Given the description of an element on the screen output the (x, y) to click on. 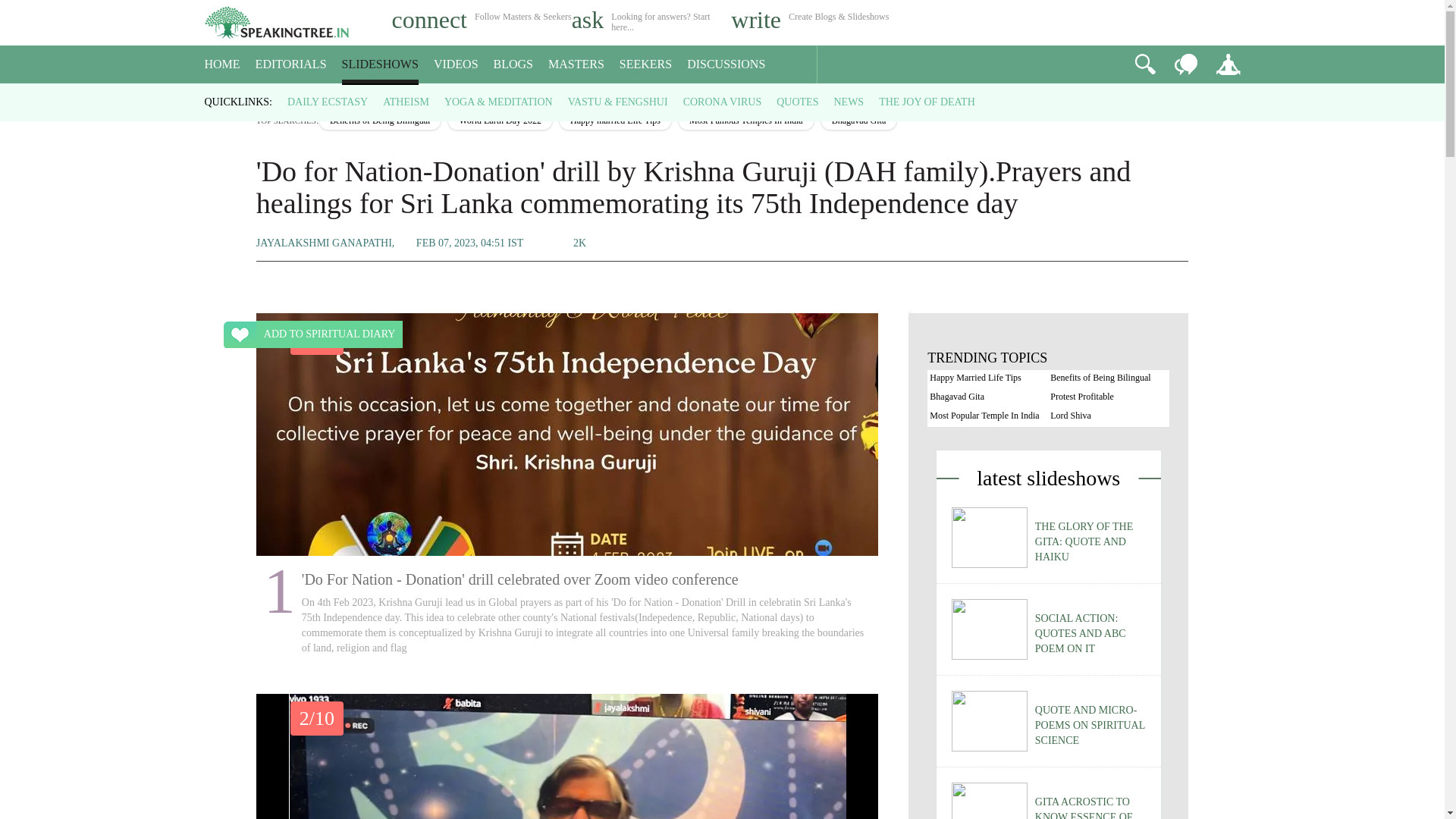
EDITORIALS (291, 64)
Slideshows (314, 96)
Humanity First !! We all ore ONE !! (566, 756)
SLIDESHOWS (380, 64)
Share on Twitter (723, 243)
DAILY ECSTASY (327, 101)
BLOGS (512, 64)
MASTERS (576, 64)
VIDEOS (456, 64)
QUOTES (797, 101)
Speaking Tree (267, 96)
Share on Facebook (658, 243)
ATHEISM (405, 101)
CORONA VIRUS (721, 101)
NEWS (847, 101)
